Given the description of an element on the screen output the (x, y) to click on. 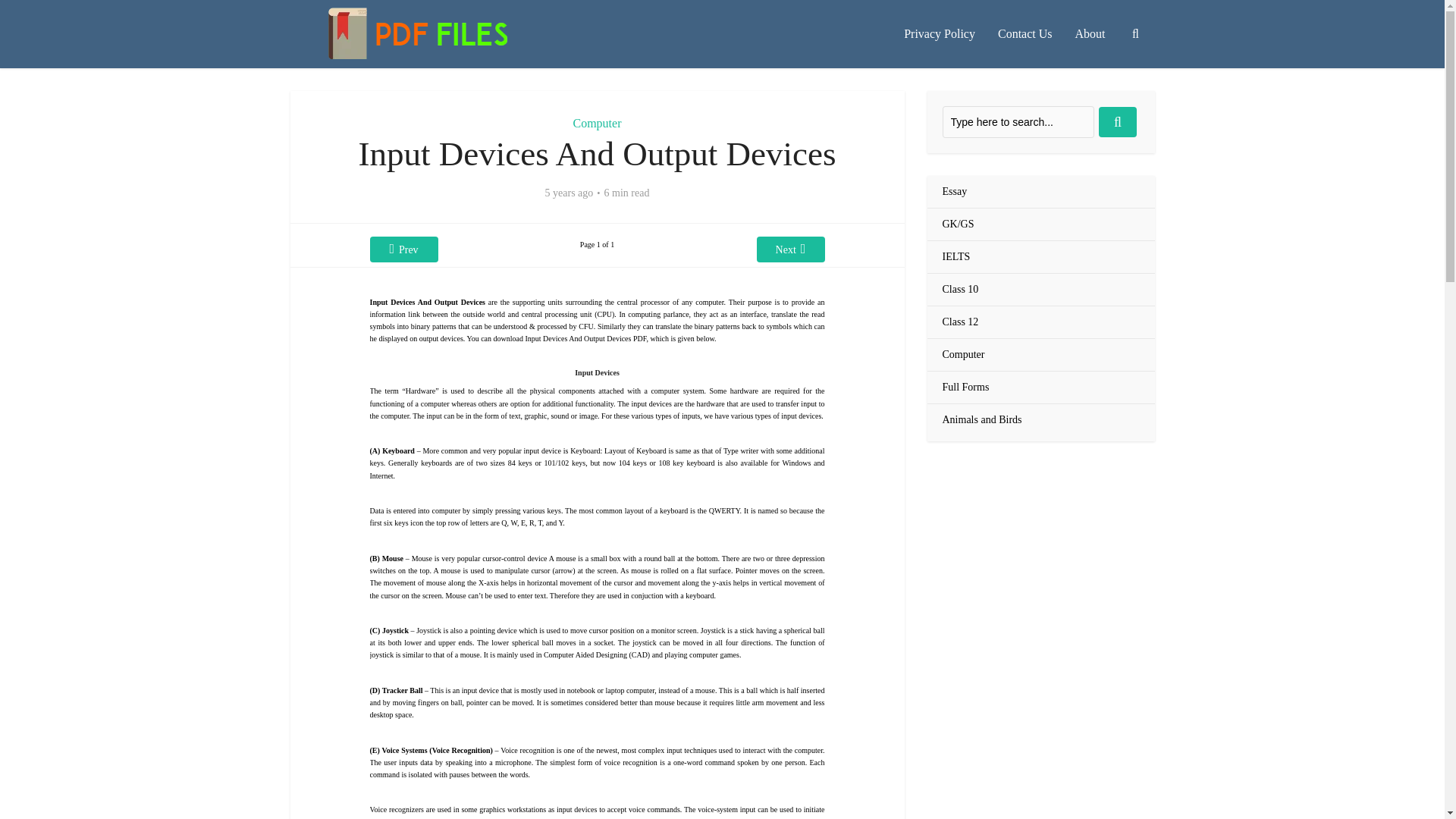
Computer (597, 123)
Type here to search... (1017, 122)
Prev (403, 249)
Class 12 (959, 322)
Next (791, 249)
Privacy Policy (939, 33)
Essay (953, 192)
IELTS (955, 256)
Type here to search... (1017, 122)
Computer (962, 355)
